Given the description of an element on the screen output the (x, y) to click on. 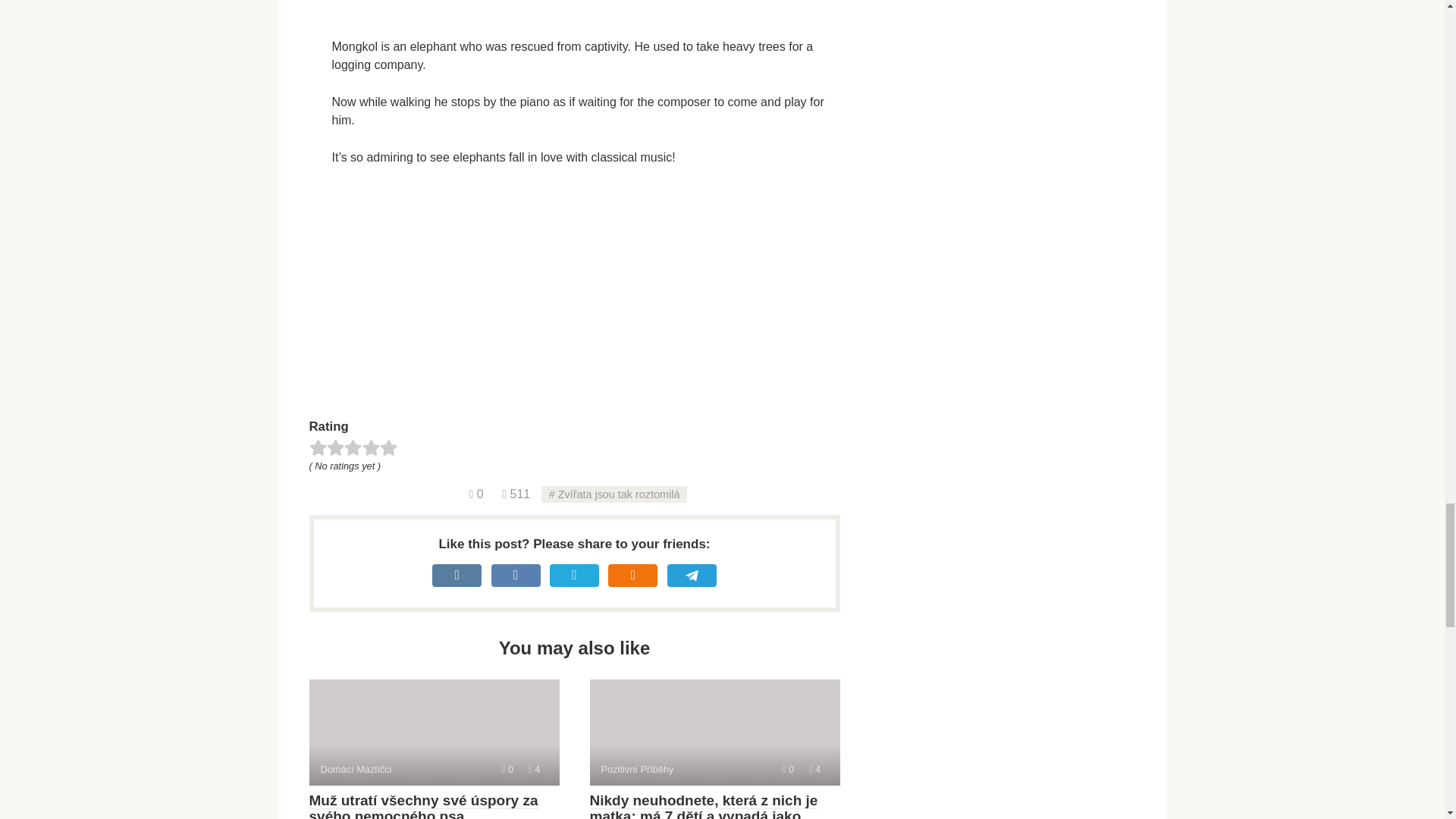
Comments (788, 768)
Comments (475, 493)
Views (515, 493)
Comments (507, 768)
Views (815, 768)
Views (534, 768)
